Given the description of an element on the screen output the (x, y) to click on. 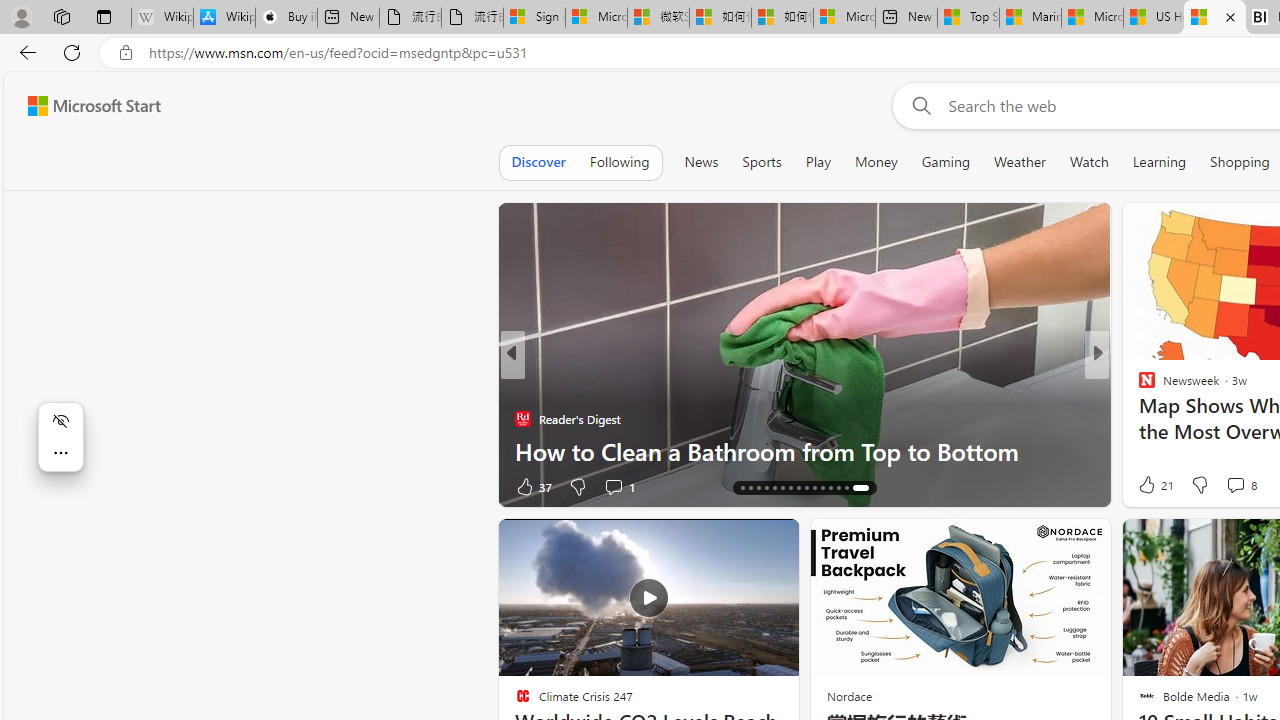
AutomationID: tab-30 (865, 487)
89 Like (1149, 486)
Watch (1089, 161)
View comments 4 Comment (1234, 486)
View comments 102 Comment (1247, 486)
Awful Funny US (1138, 418)
AutomationID: tab-27 (842, 487)
View comments 102 Comment (1234, 485)
1 Like (528, 486)
7 Like (1145, 486)
View comments 157 Comment (1234, 485)
More actions (60, 452)
